Given the description of an element on the screen output the (x, y) to click on. 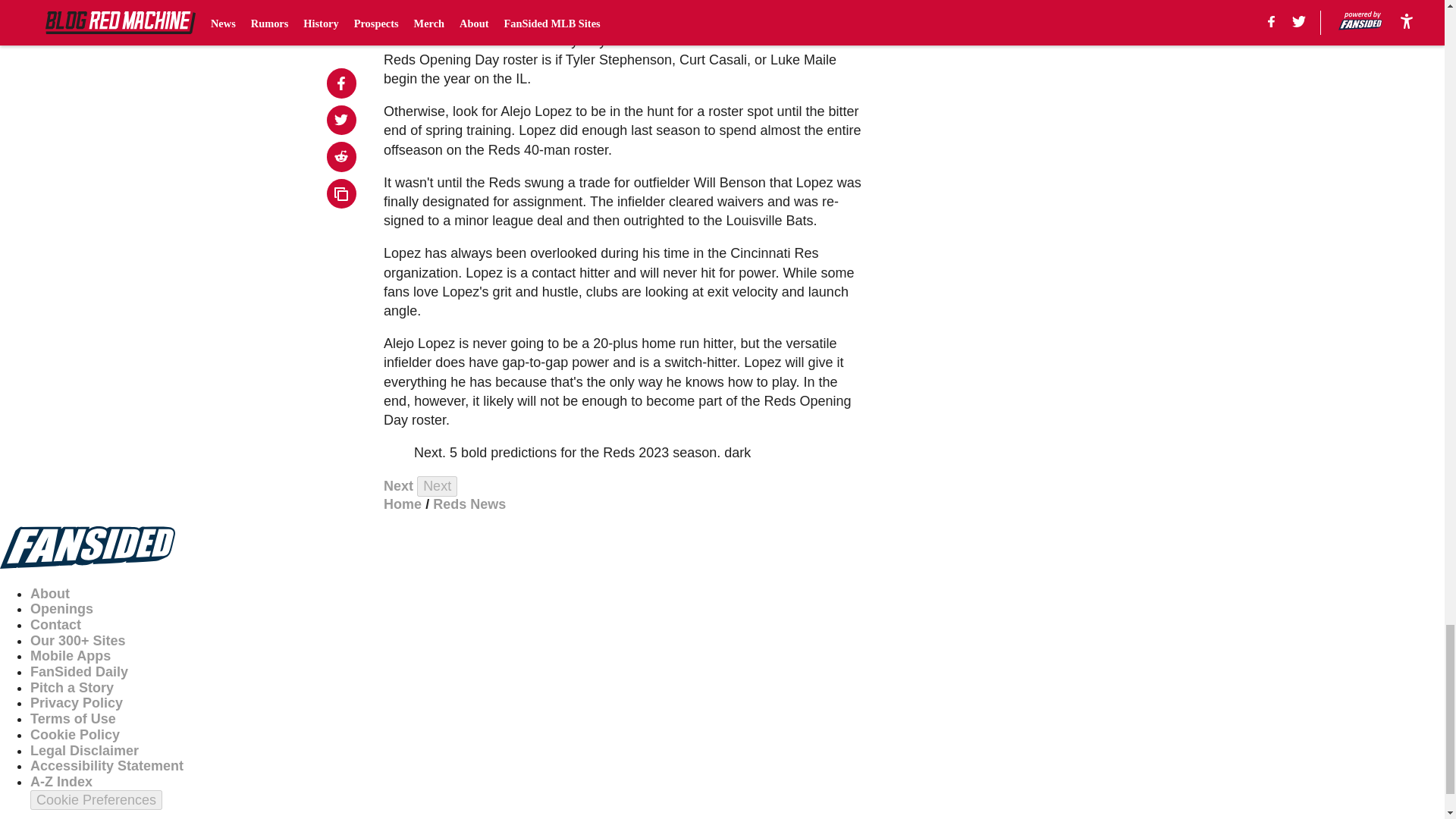
Home (403, 503)
Reds News (468, 503)
About (49, 593)
Next (398, 485)
Next (436, 485)
